Given the description of an element on the screen output the (x, y) to click on. 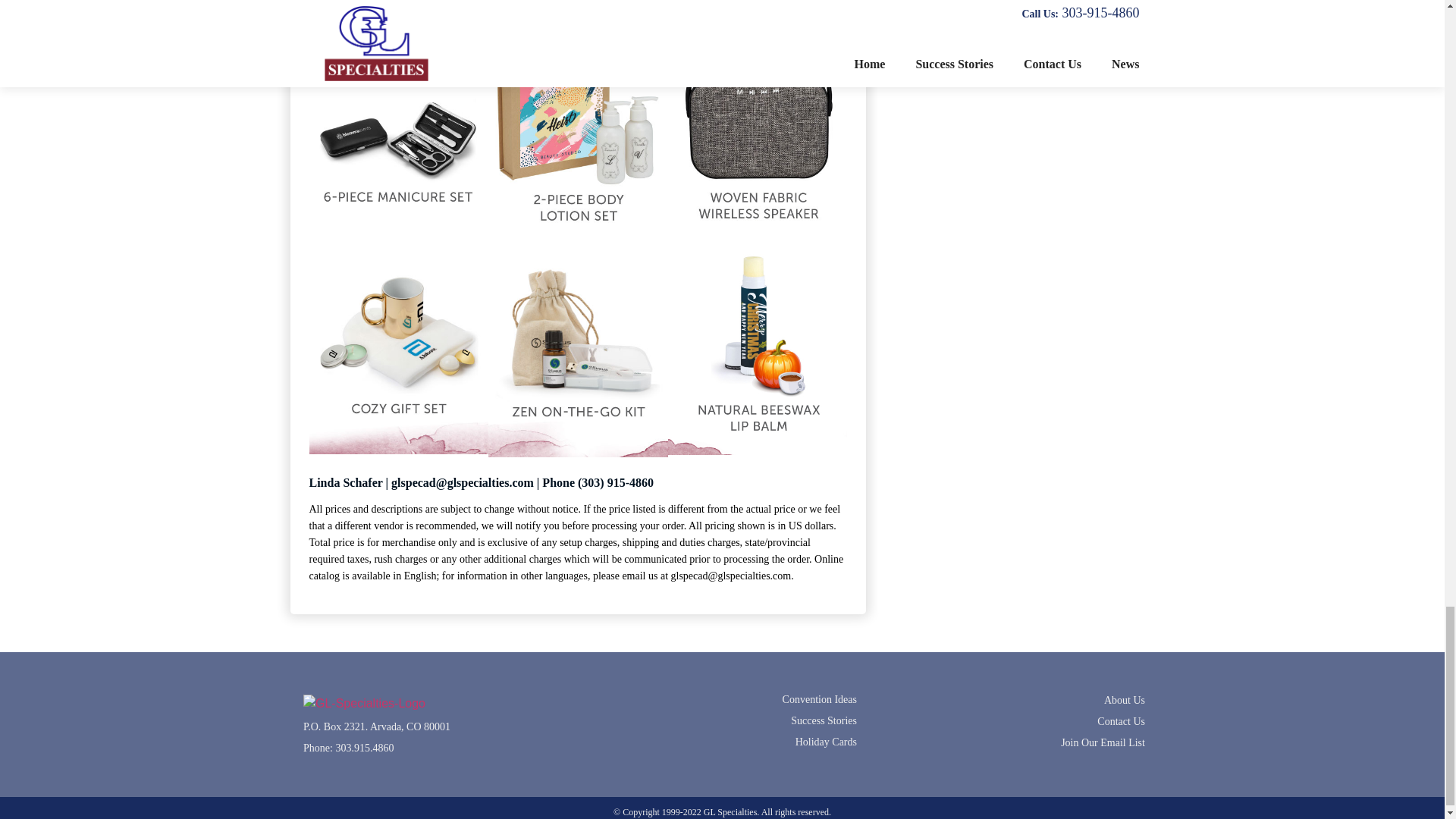
GL-Specialties-Logo (363, 703)
